Given the description of an element on the screen output the (x, y) to click on. 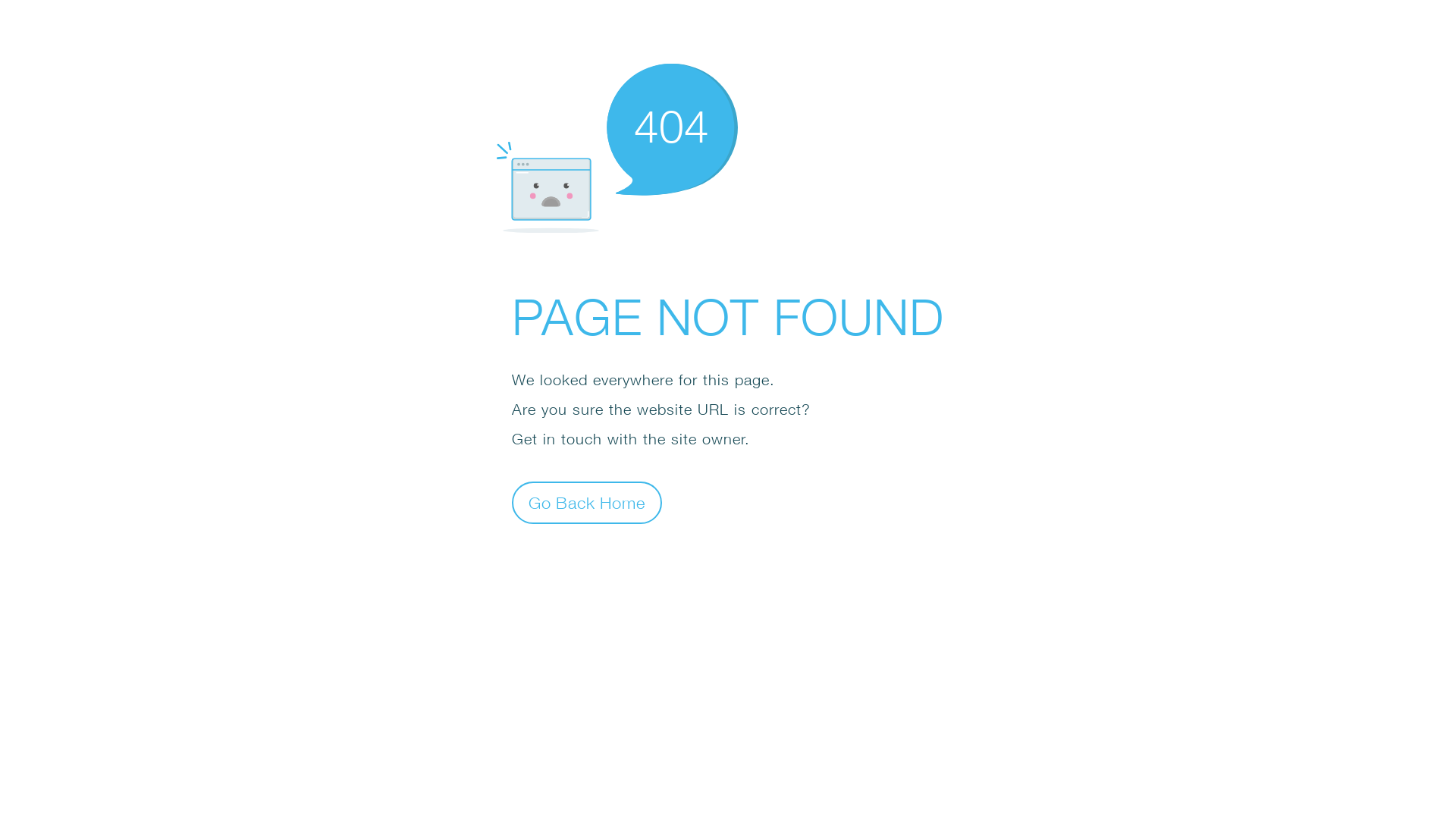
Go Back Home Element type: text (586, 502)
